Given the description of an element on the screen output the (x, y) to click on. 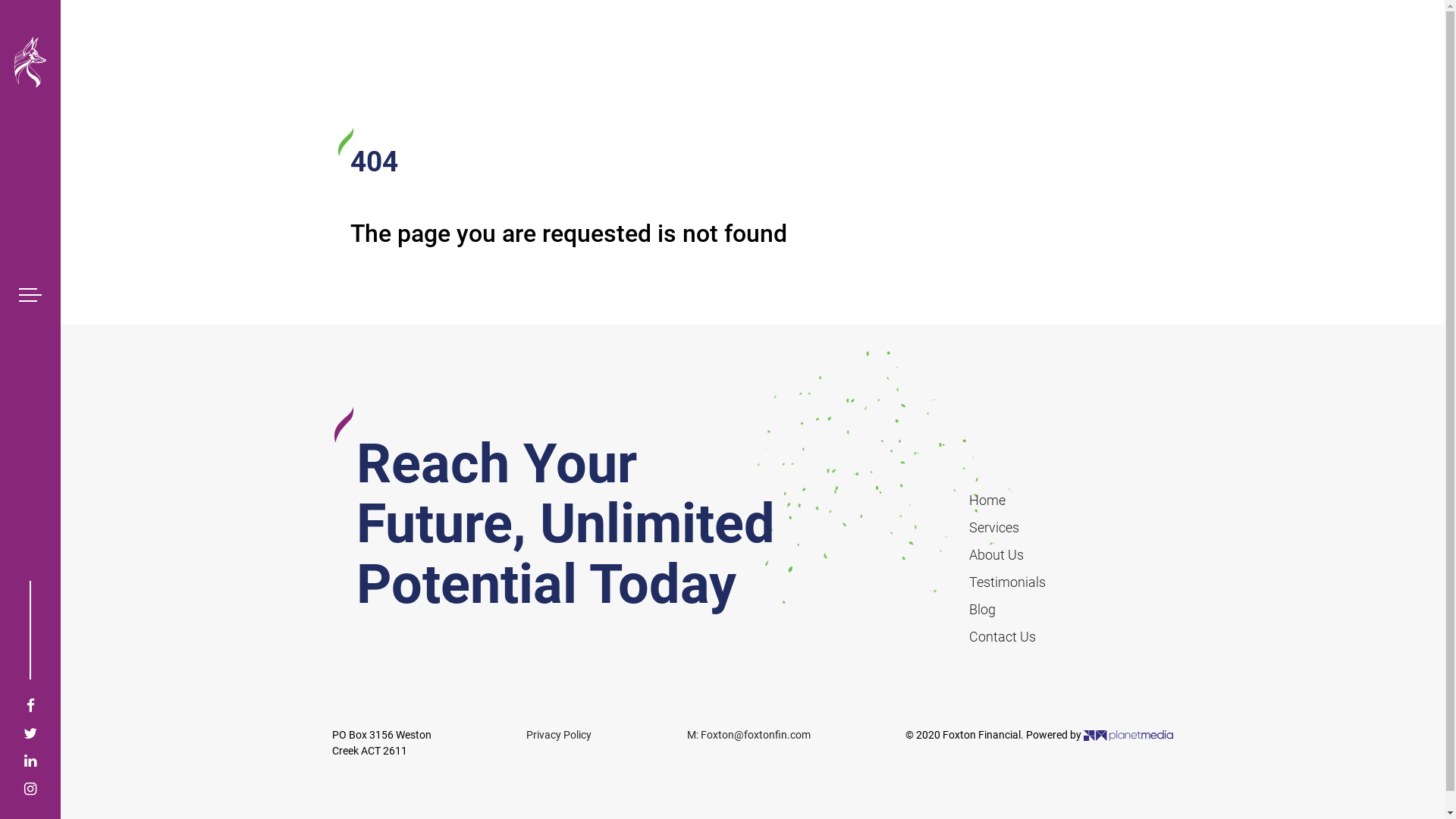
Services Element type: text (994, 527)
Testimonials Element type: text (1007, 581)
Home Element type: text (987, 500)
M: Foxton@foxtonfin.com Element type: text (748, 734)
Contact Us Element type: text (1002, 636)
Blog Element type: text (982, 609)
About Us Element type: text (996, 554)
Privacy Policy Element type: text (558, 734)
